Given the description of an element on the screen output the (x, y) to click on. 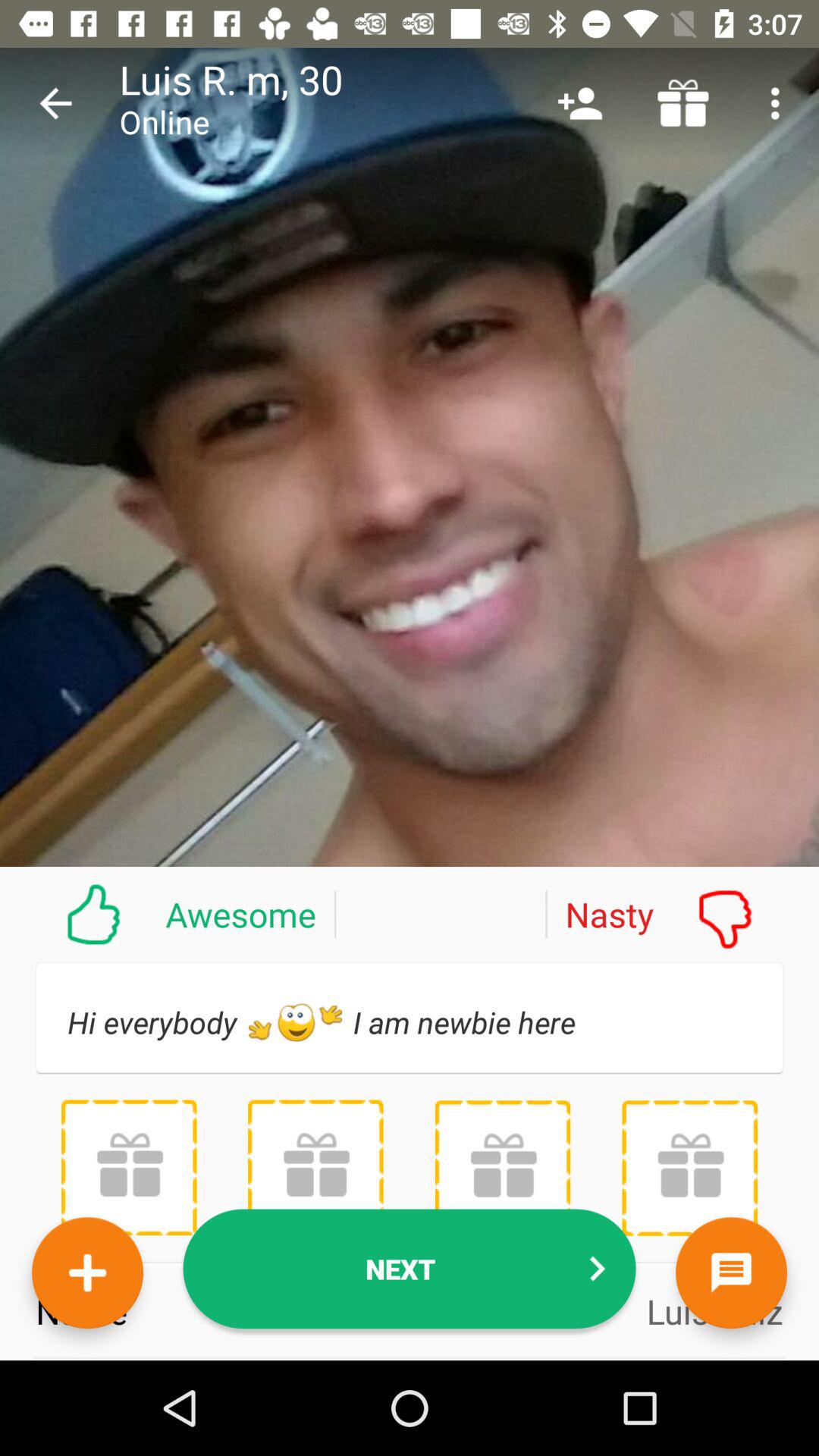
turn off the icon above awesome (55, 103)
